Given the description of an element on the screen output the (x, y) to click on. 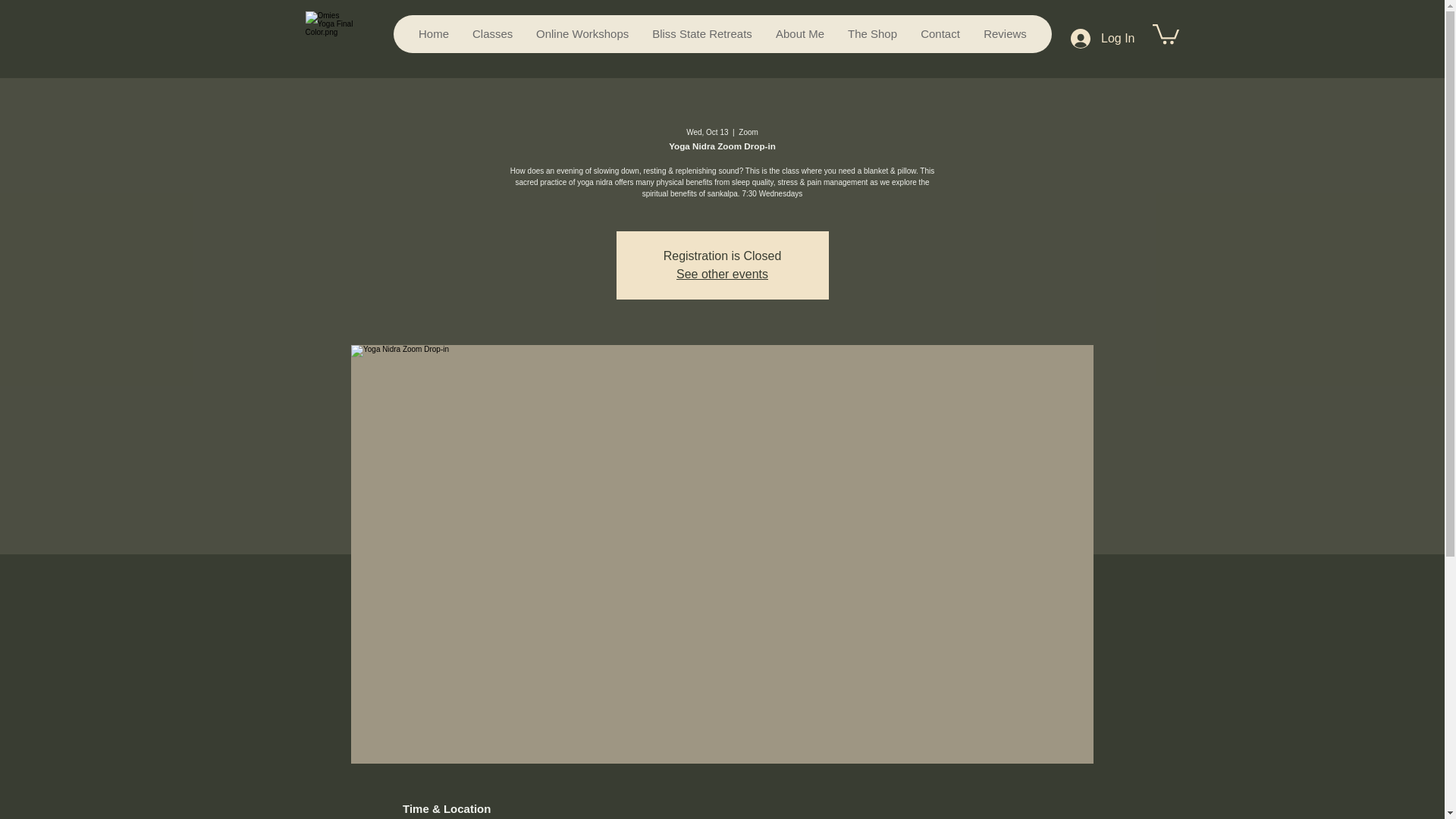
Classes (492, 34)
Home (433, 34)
About Me (798, 34)
The Shop (871, 34)
Reviews (1004, 34)
Contact (939, 34)
Log In (1101, 38)
See other events (722, 273)
Online Workshops (582, 34)
Bliss State Retreats (701, 34)
